Given the description of an element on the screen output the (x, y) to click on. 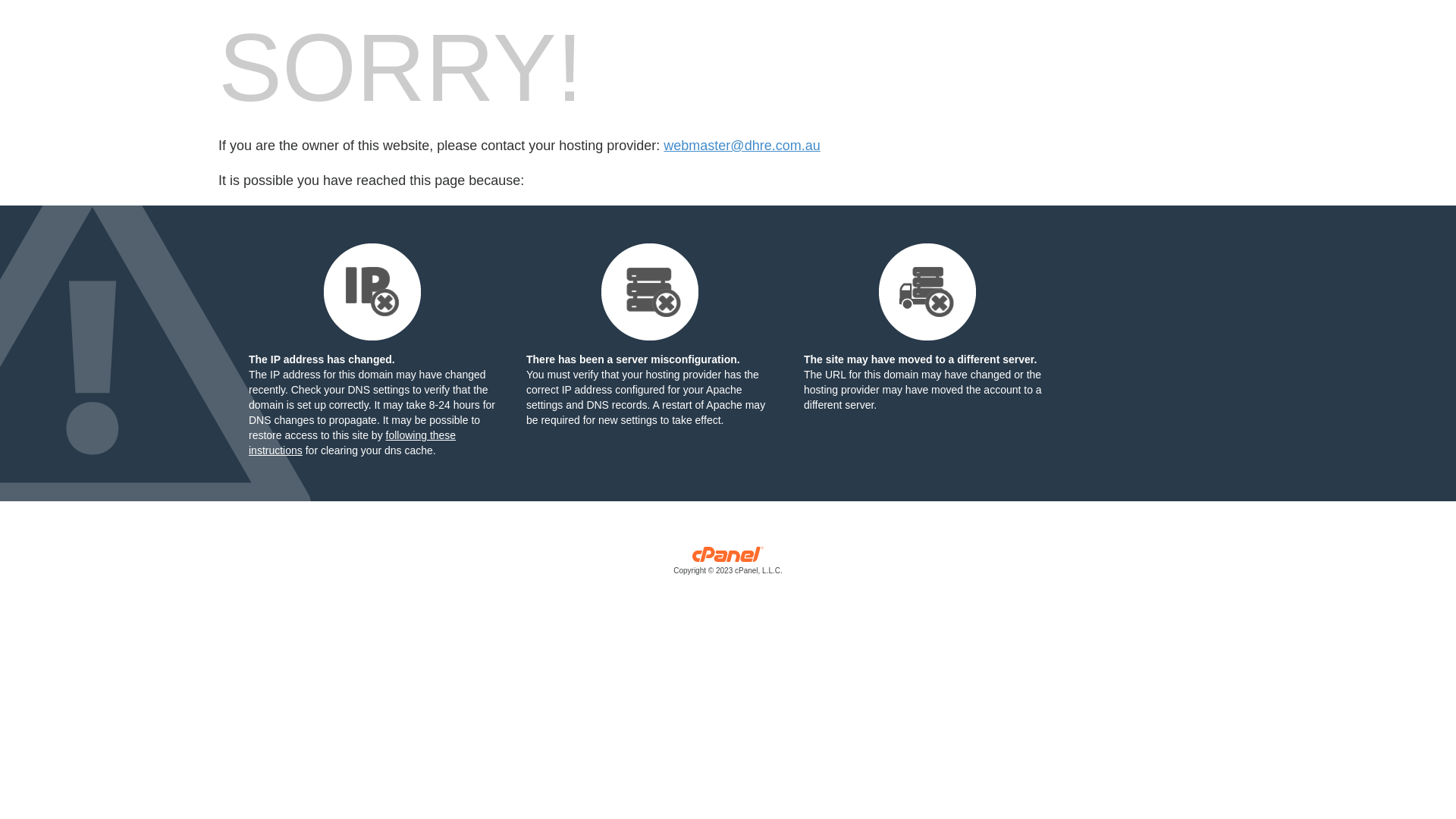
following these instructions Element type: text (351, 442)
webmaster@dhre.com.au Element type: text (741, 145)
